Given the description of an element on the screen output the (x, y) to click on. 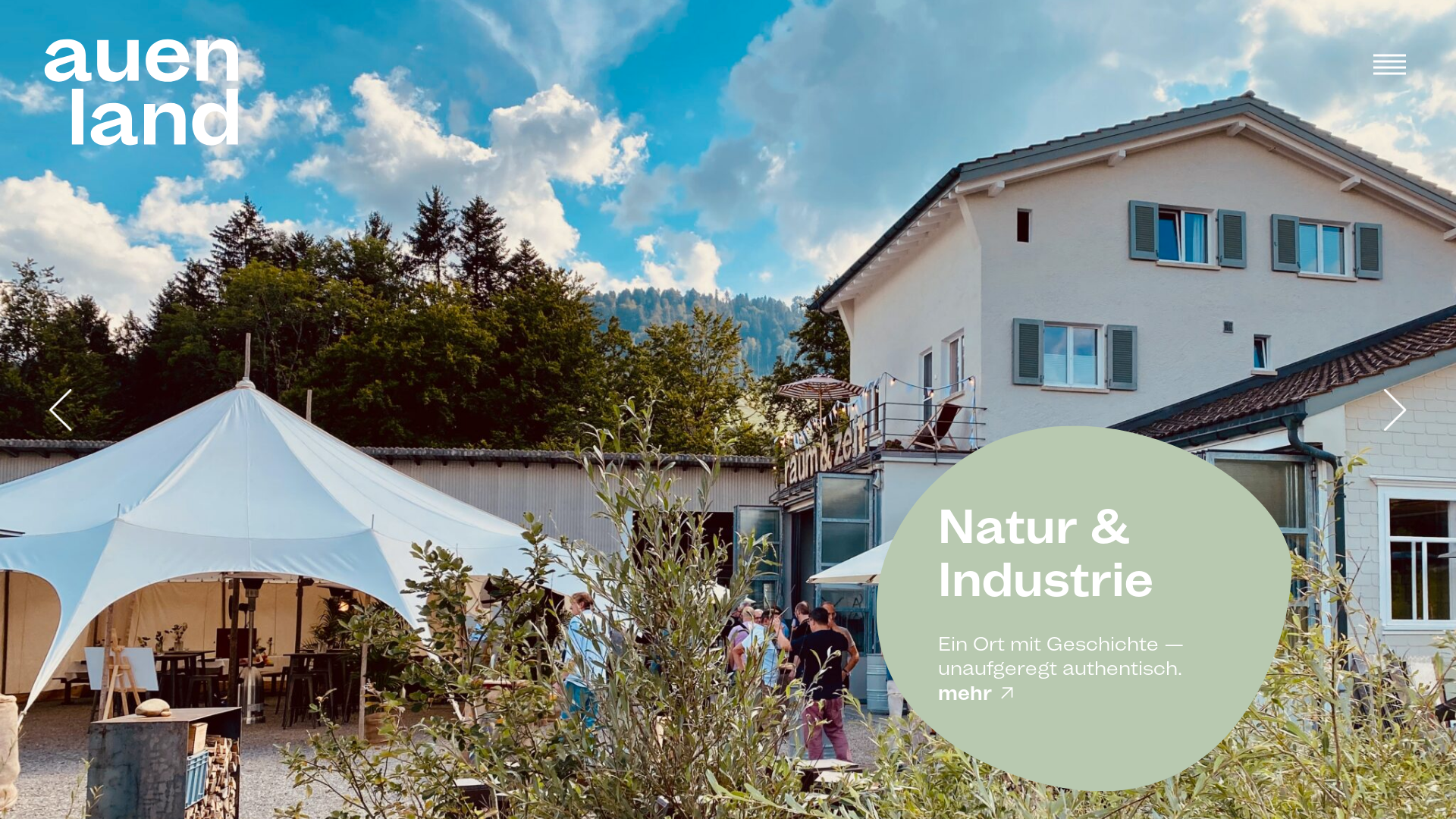
Next Element type: text (1395, 409)
mehr Element type: text (1240, 691)
Previous Element type: text (60, 409)
